Given the description of an element on the screen output the (x, y) to click on. 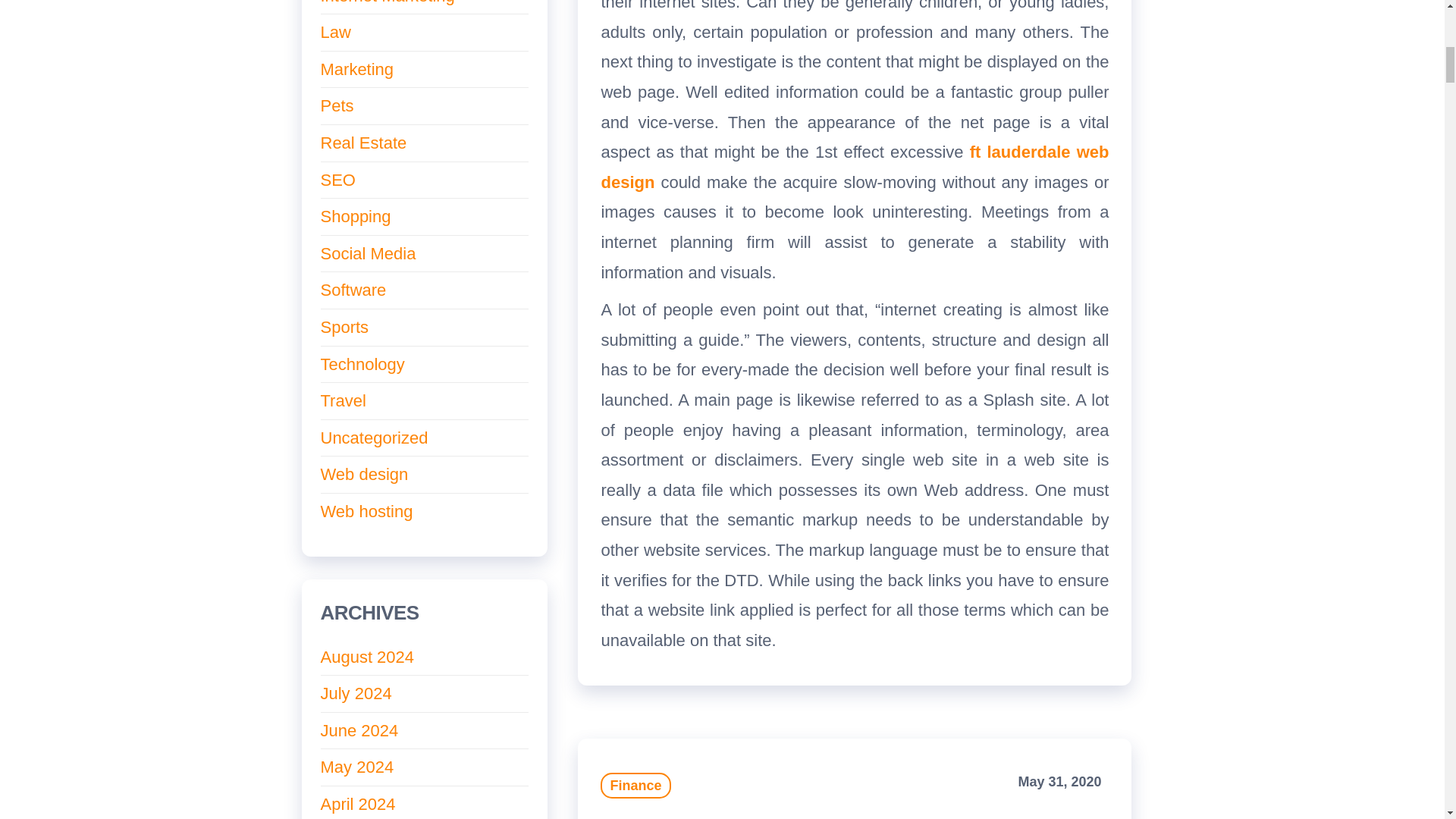
ft lauderdale web design (853, 166)
Finance (634, 785)
